Given the description of an element on the screen output the (x, y) to click on. 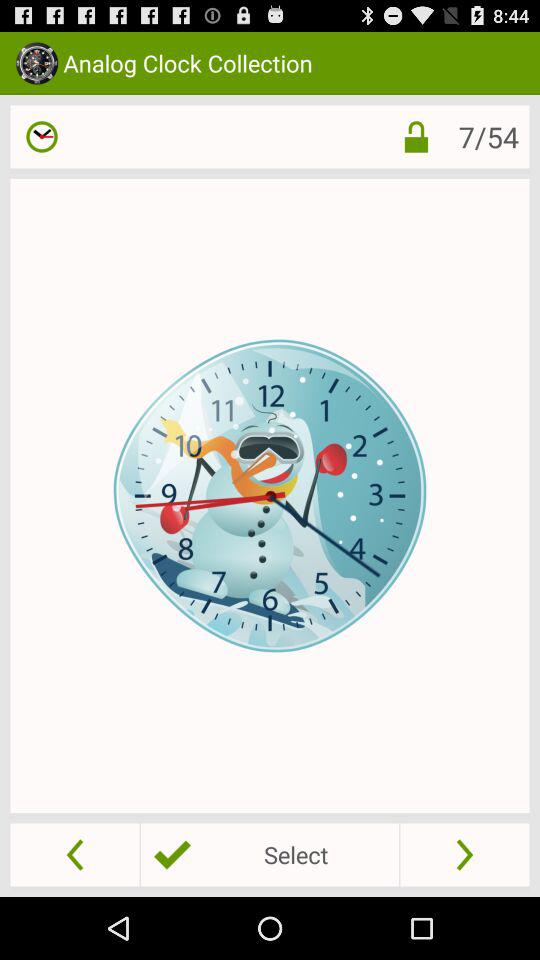
next button (464, 854)
